Given the description of an element on the screen output the (x, y) to click on. 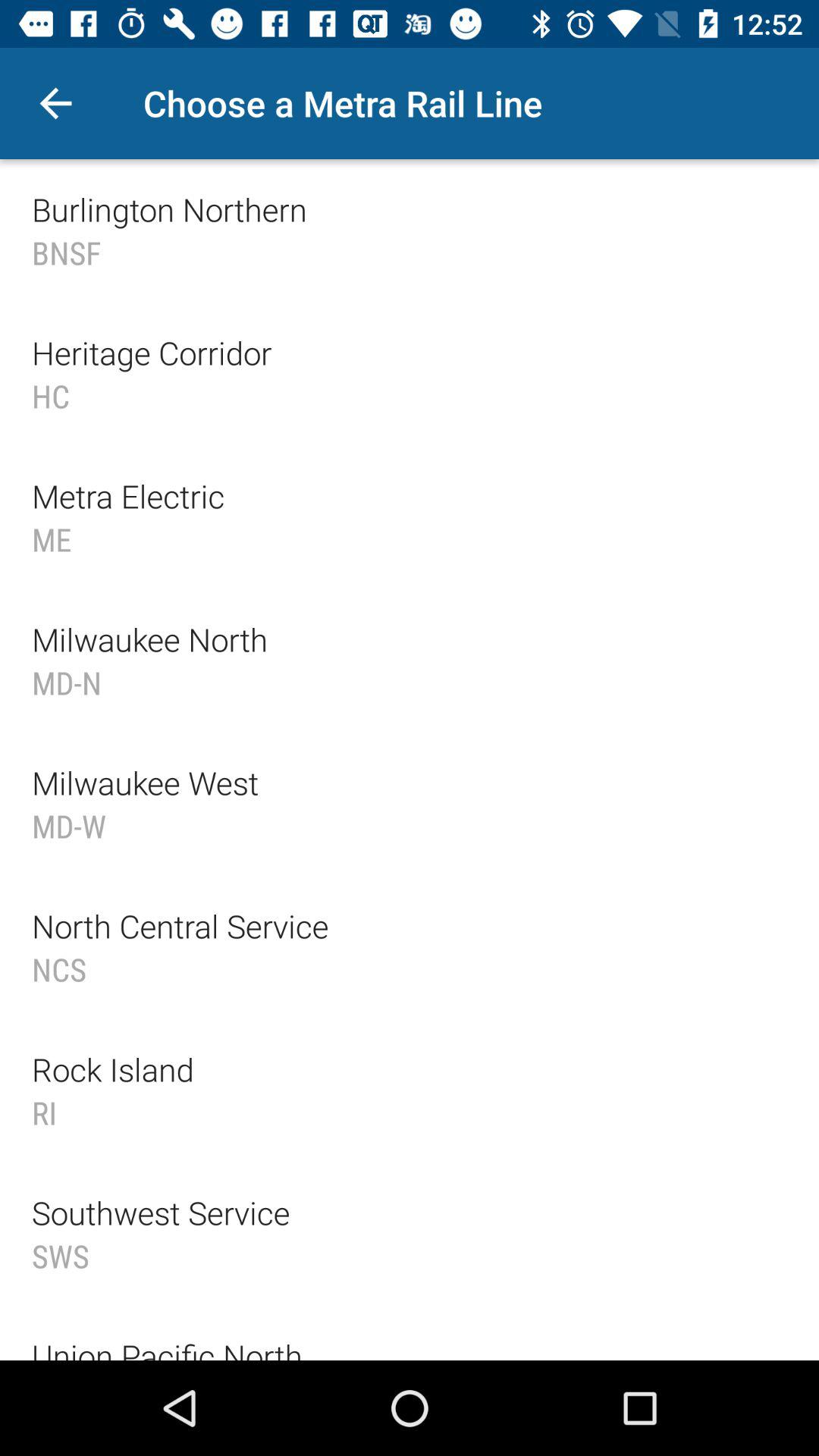
choose item next to choose a metra (55, 103)
